Given the description of an element on the screen output the (x, y) to click on. 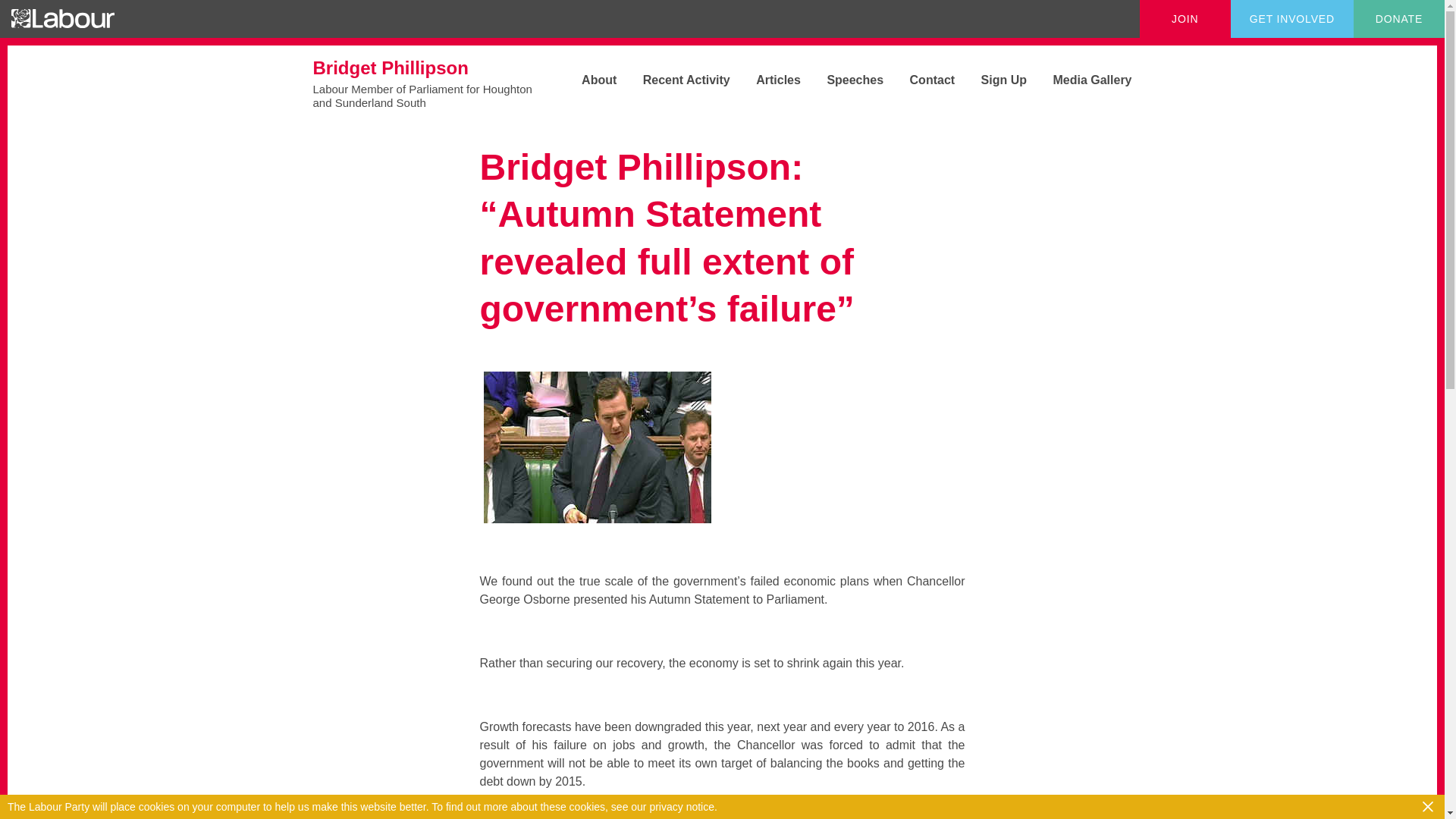
JOIN (1185, 18)
Media Gallery (1080, 79)
Sign Up (992, 79)
Speeches (843, 79)
Contact (920, 79)
Recent Activity (675, 79)
About (587, 79)
Articles (766, 79)
GET INVOLVED (1292, 18)
